Given the description of an element on the screen output the (x, y) to click on. 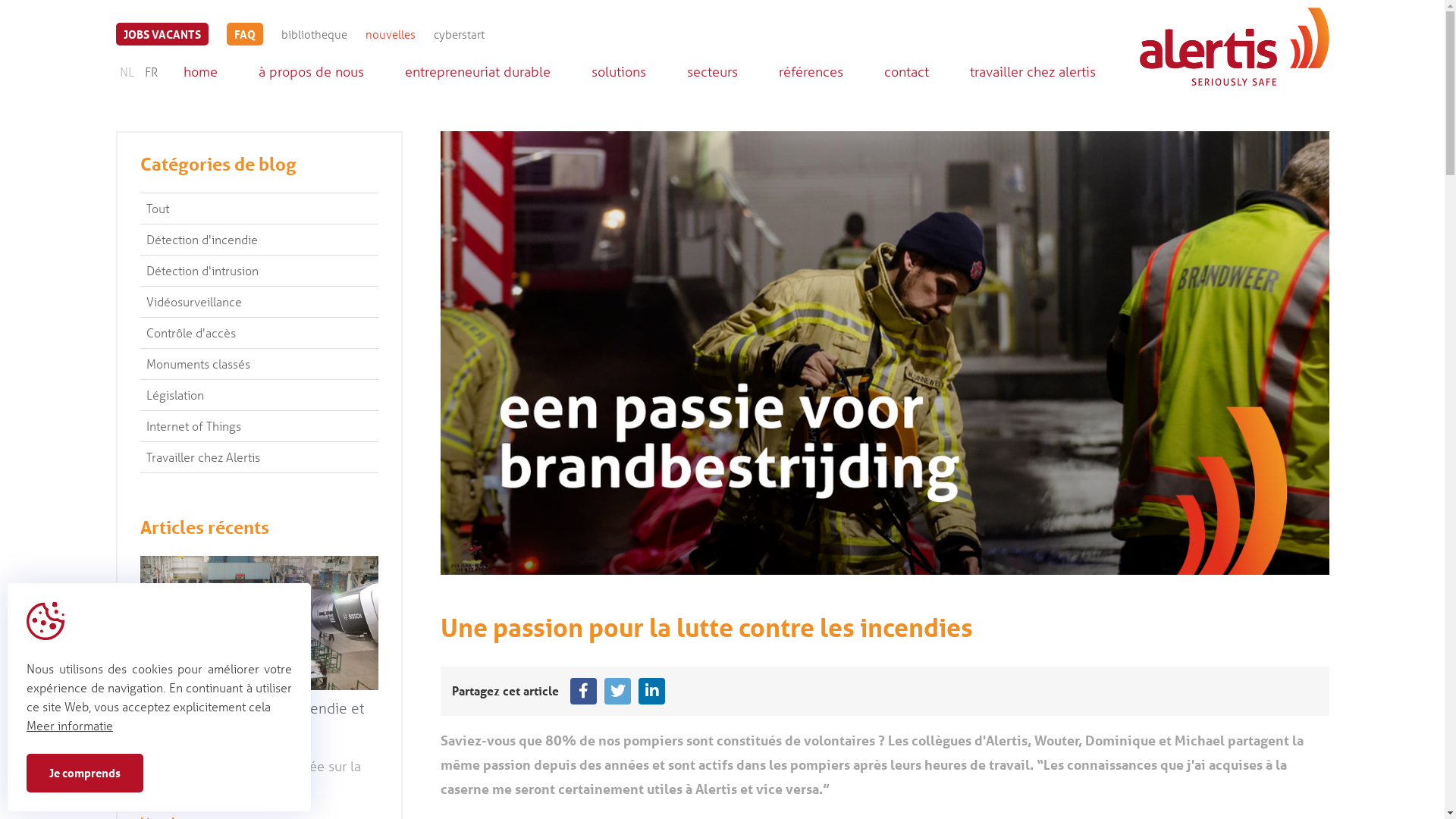
Je comprends Element type: text (84, 772)
Meer informatie Element type: text (69, 725)
travailler chez alertis Element type: text (1032, 70)
secteurs Element type: text (712, 70)
Travailler chez Alertis Element type: text (258, 456)
nouvelles Element type: text (390, 33)
FR Element type: text (151, 71)
NL Element type: text (126, 71)
home Element type: text (200, 70)
Internet of Things Element type: text (258, 426)
contact Element type: text (906, 70)
JOBS VACANTS Element type: text (161, 33)
FAQ Element type: text (243, 33)
solutions Element type: text (618, 70)
Tout Element type: text (258, 207)
entrepreneuriat durable Element type: text (477, 70)
bibliotheque Element type: text (313, 33)
Een Passie Voor Brandbestrijding - Artikel - Alertis Element type: hover (258, 622)
cyberstart Element type: text (458, 33)
